Given the description of an element on the screen output the (x, y) to click on. 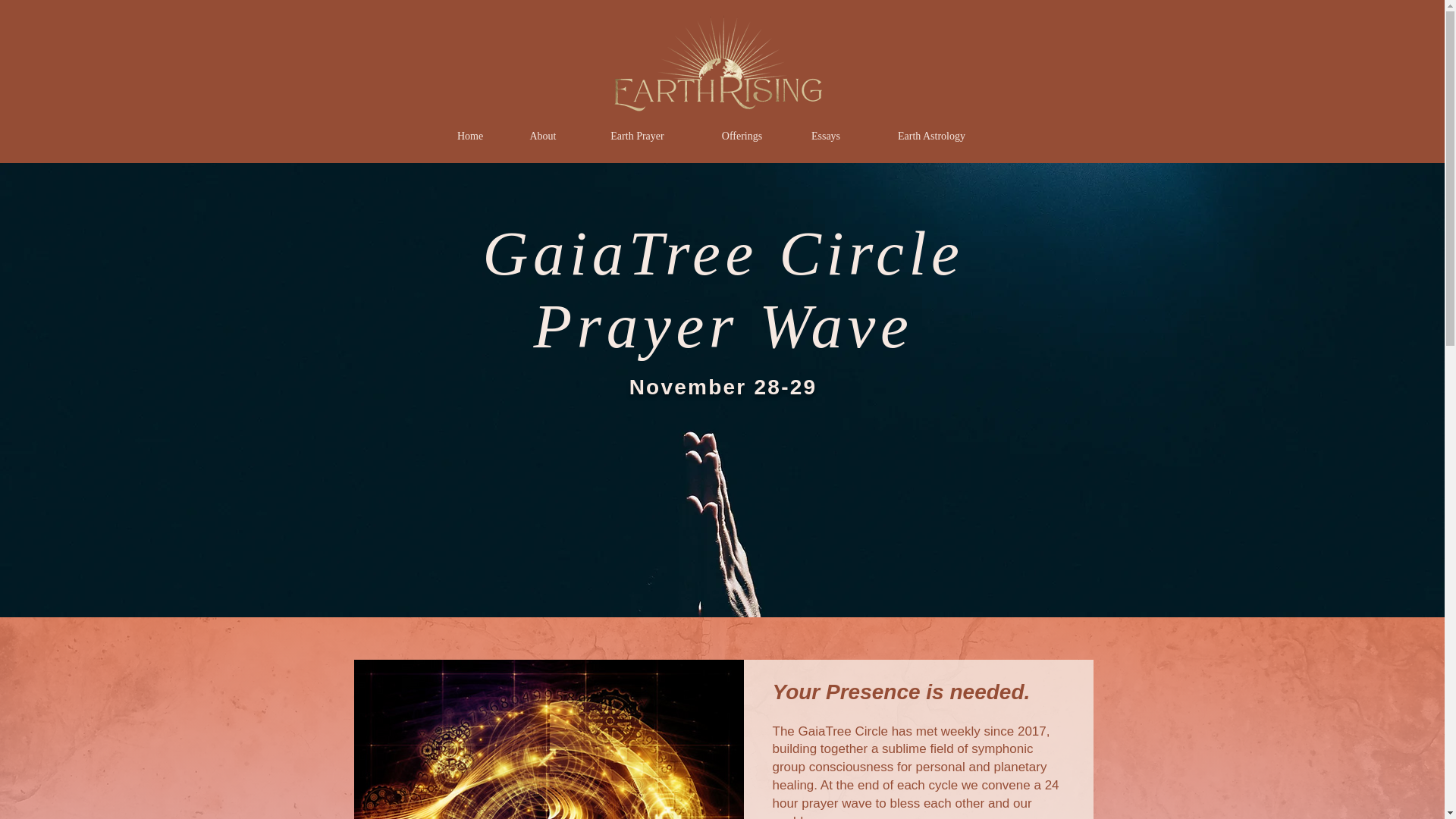
Earth Astrology (931, 136)
About (542, 136)
Home (470, 136)
Essays (825, 136)
Earth Prayer (637, 136)
source-energy-representation-mandala-ai-genaretor.jpg (547, 739)
